Given the description of an element on the screen output the (x, y) to click on. 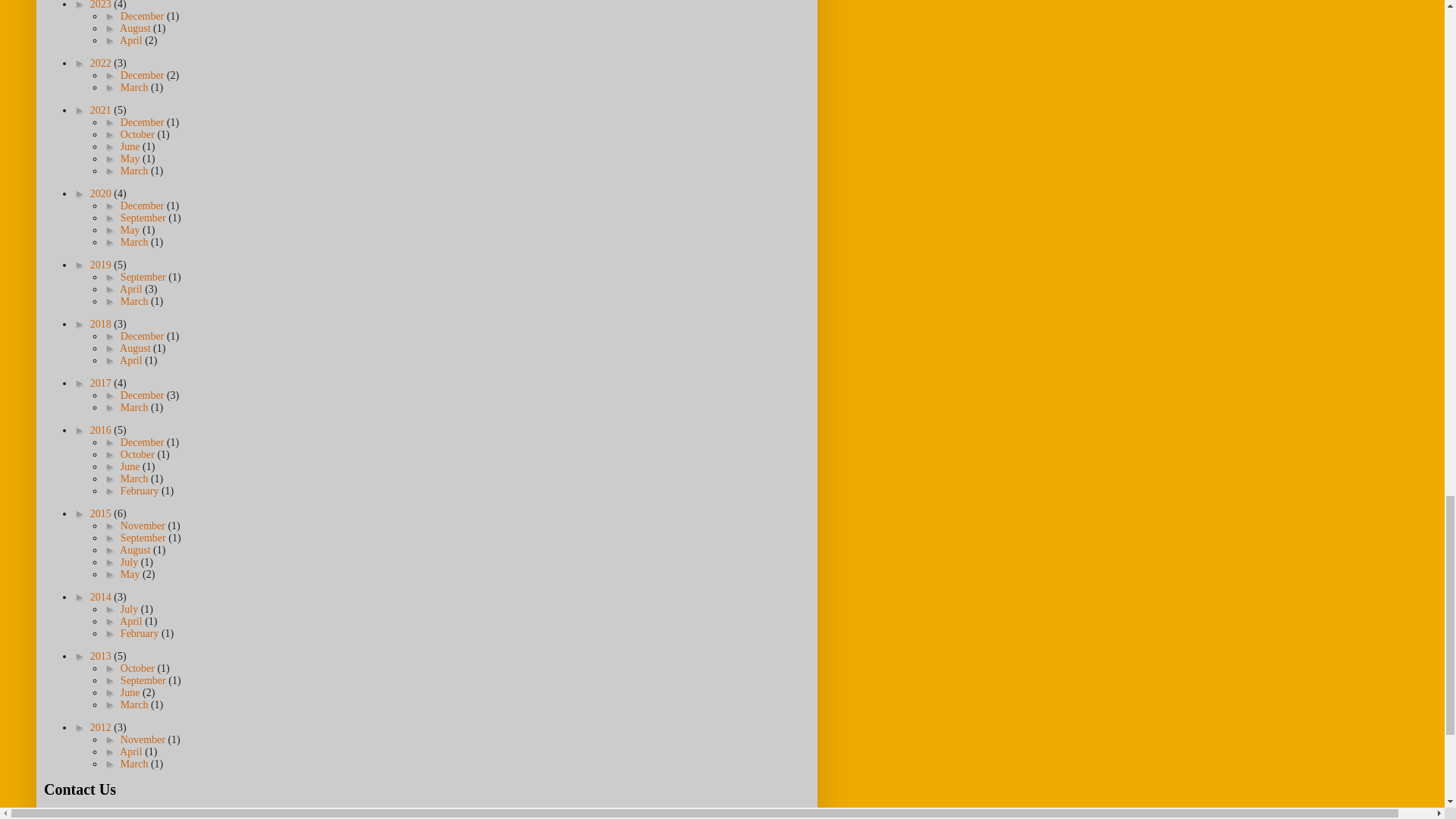
2023 (102, 4)
2022 (102, 62)
August (135, 28)
December (143, 16)
April (131, 40)
